Given the description of an element on the screen output the (x, y) to click on. 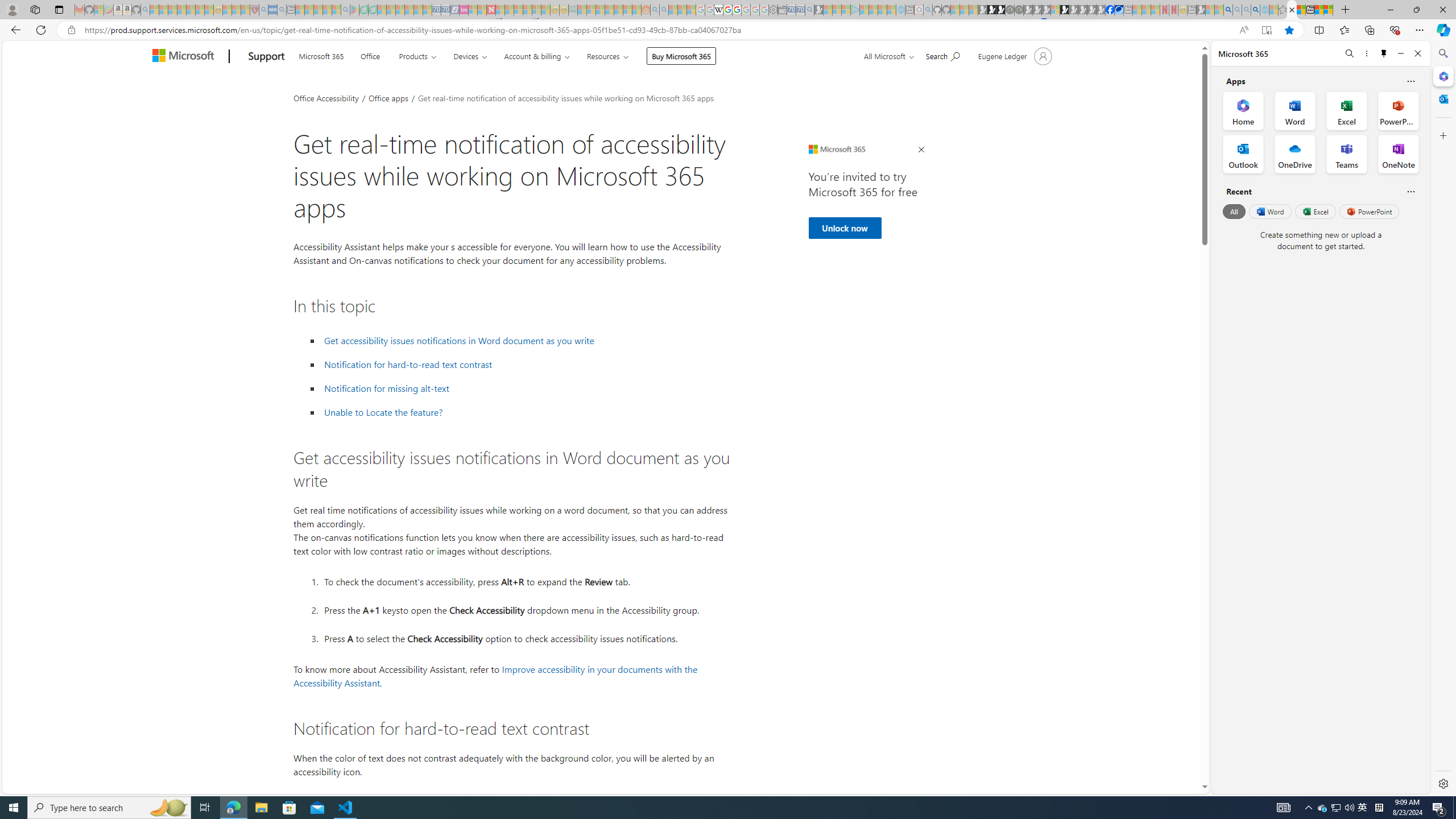
Home Office App (1243, 110)
All (1233, 210)
 Notification for missing alt-text (386, 388)
Future Focus Report 2024 - Sleeping (1018, 9)
